Given the description of an element on the screen output the (x, y) to click on. 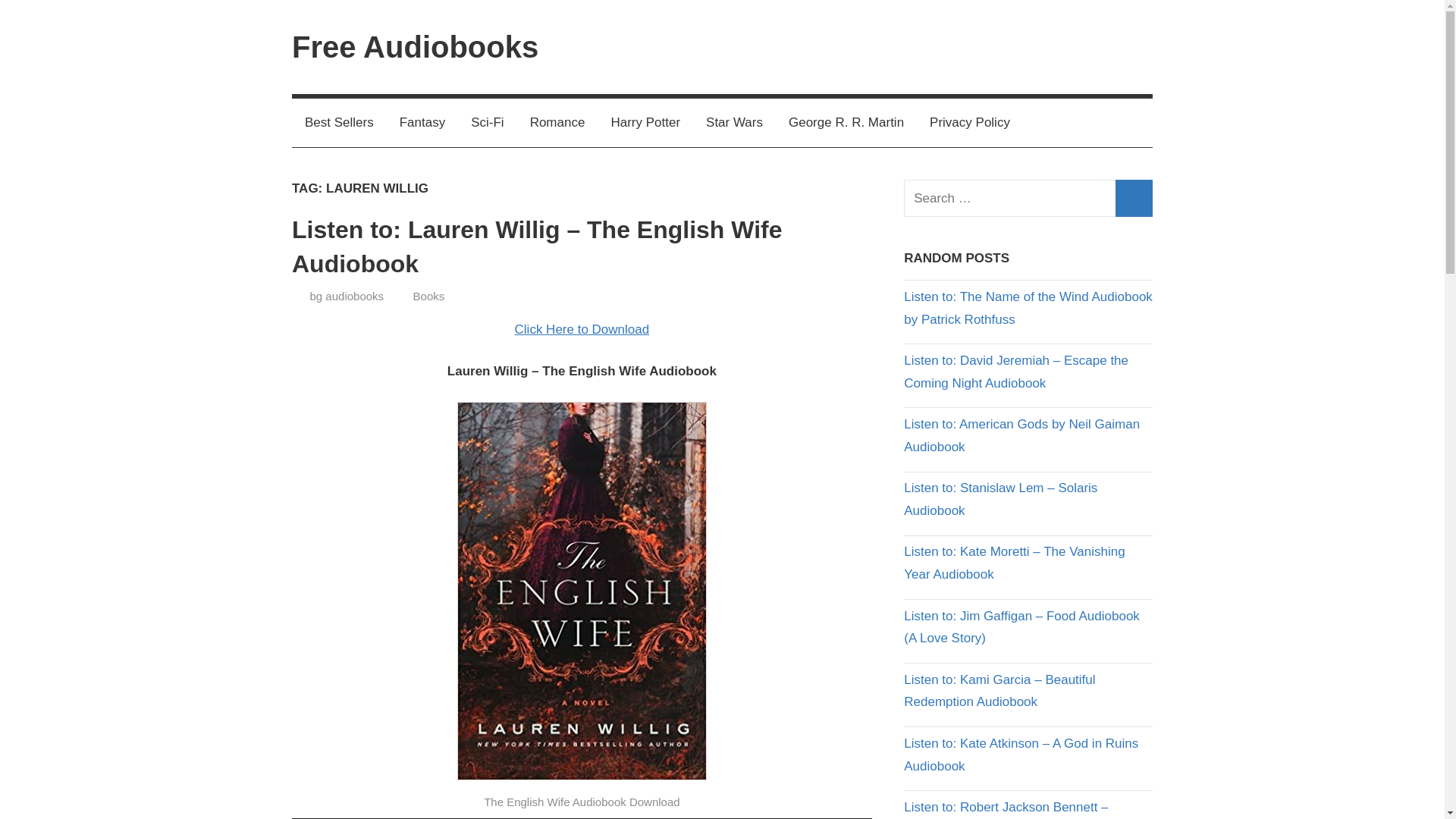
Romance (557, 122)
Sci-Fi (487, 122)
Books (429, 295)
Fantasy (422, 122)
Click Here to Download (582, 329)
Best Sellers (339, 122)
Star Wars (734, 122)
View all posts by bg audiobooks (346, 295)
George R. R. Martin (846, 122)
Privacy Policy (970, 122)
